Given the description of an element on the screen output the (x, y) to click on. 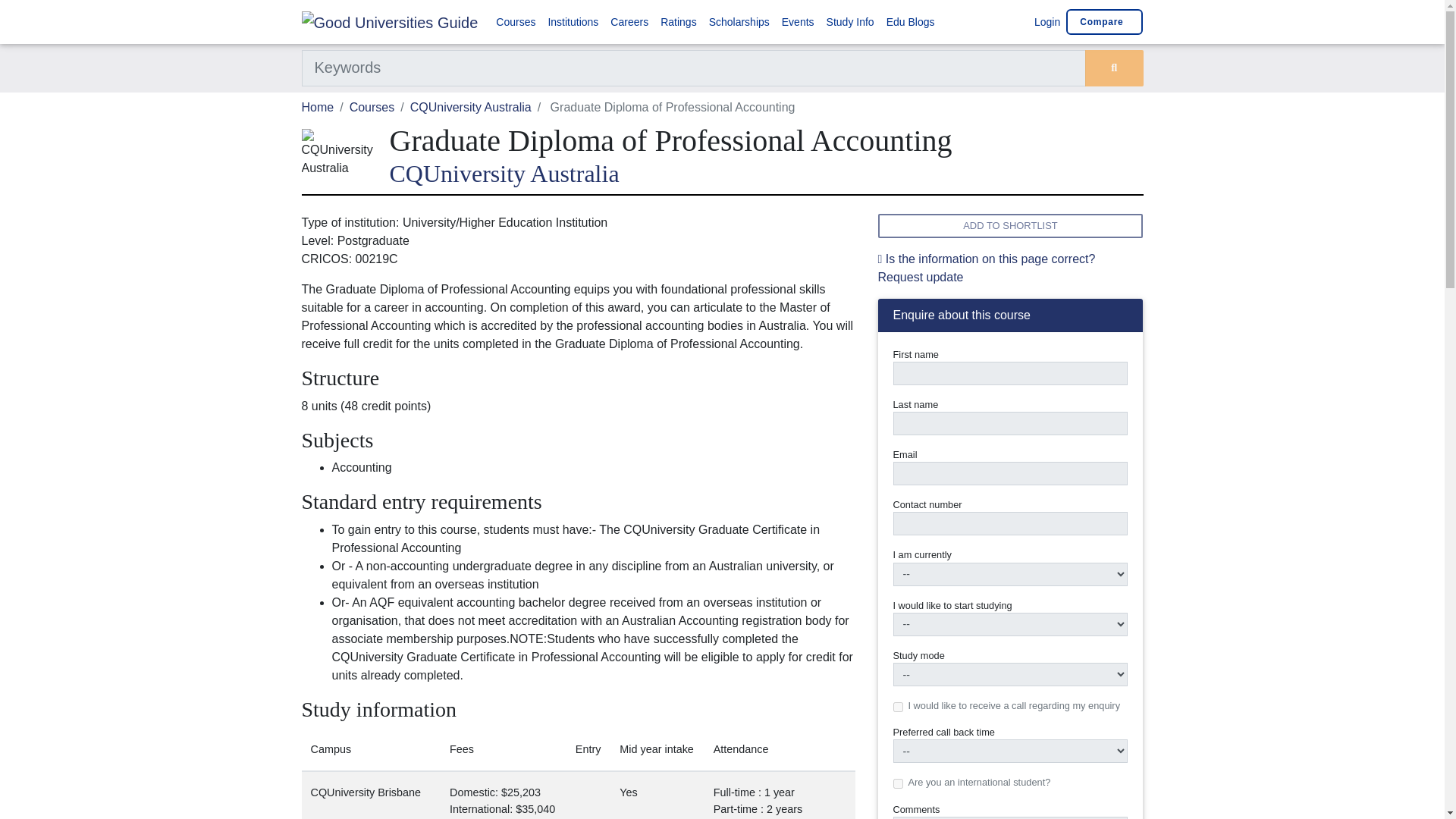
yes (897, 706)
ADD TO SHORTLIST (1009, 225)
CQUniversity Australia (470, 106)
Edu Blogs (910, 21)
CQUniversity Australia (766, 173)
Compare (1103, 22)
Ratings (677, 21)
Courses (515, 21)
Courses (371, 106)
Scholarships (739, 21)
Events (798, 21)
yes (897, 783)
Study Info (850, 21)
Is the information on this page correct? Request update (986, 267)
Login (1045, 21)
